Given the description of an element on the screen output the (x, y) to click on. 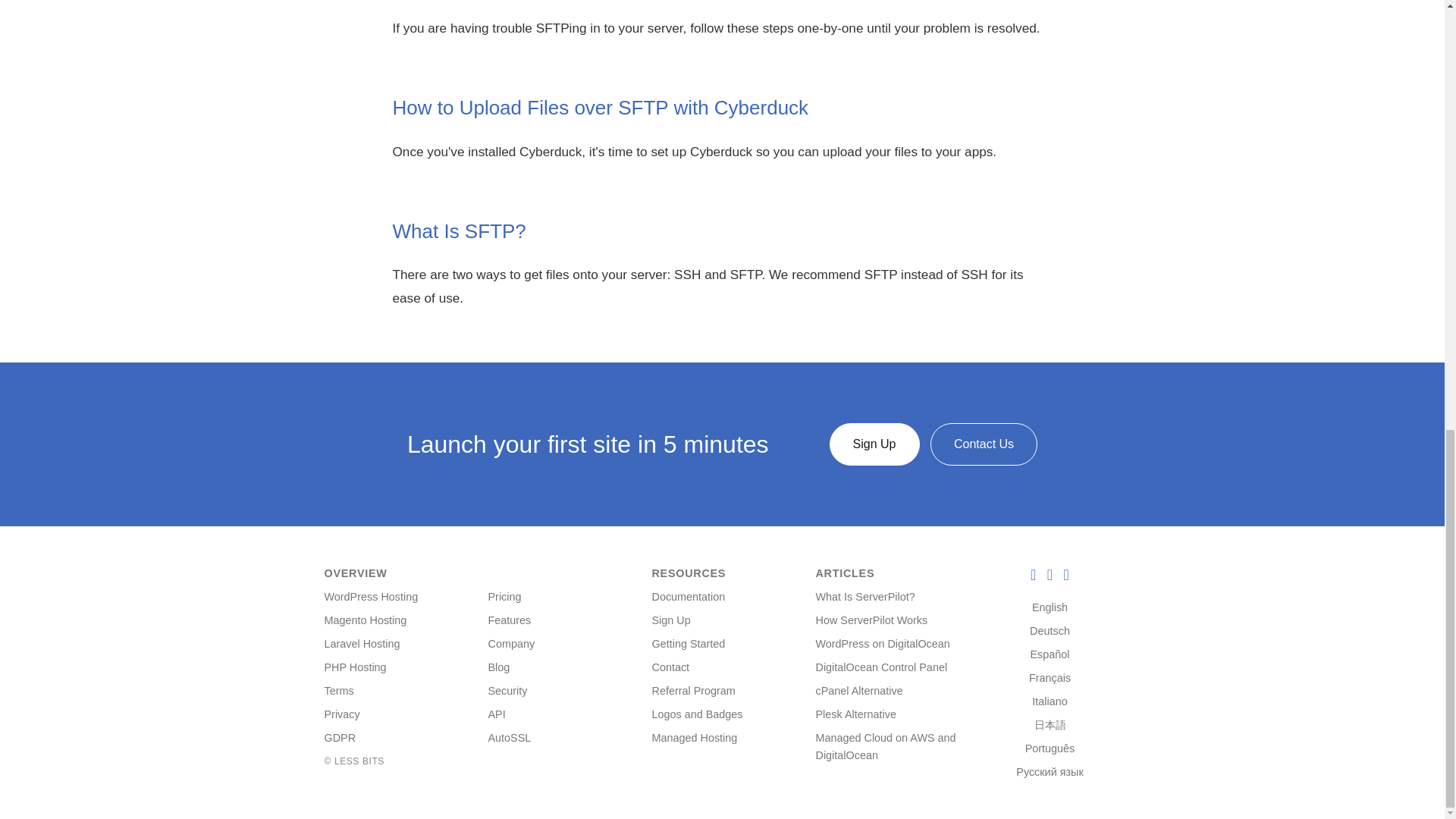
Security (507, 690)
Managed Hosting (695, 737)
Getting Started (688, 644)
Magento Hosting (365, 620)
Referral Program (693, 690)
Documentation (688, 596)
Terms (338, 690)
Sign Up (671, 620)
Pricing (504, 596)
Contact Us (983, 444)
API (496, 714)
What Is SFTP? (459, 231)
How to Upload Files over SFTP with Cyberduck (601, 107)
Company (511, 644)
Contact (671, 666)
